Given the description of an element on the screen output the (x, y) to click on. 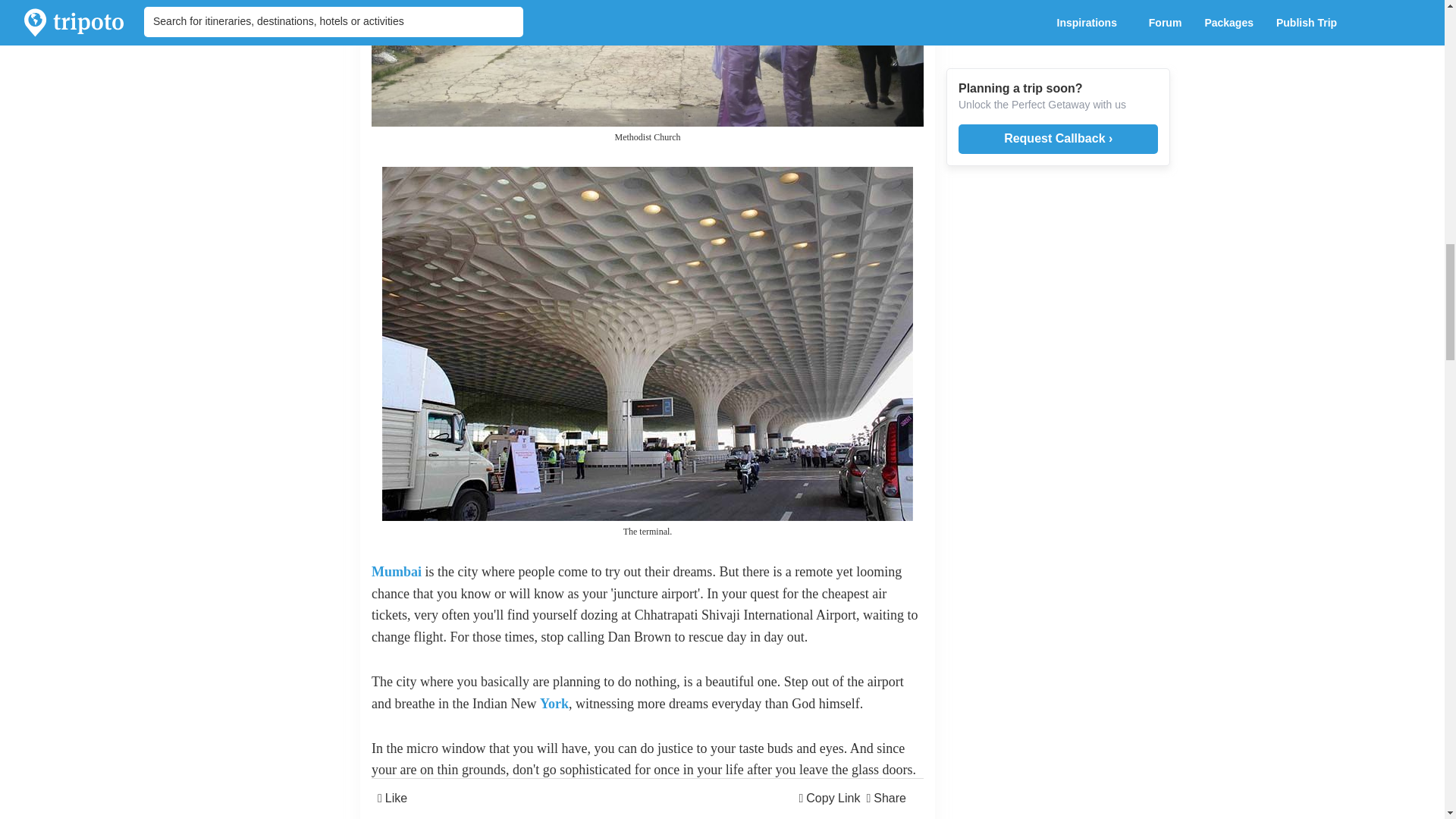
Mumbai (396, 571)
York (554, 703)
KFC (555, 811)
